Given the description of an element on the screen output the (x, y) to click on. 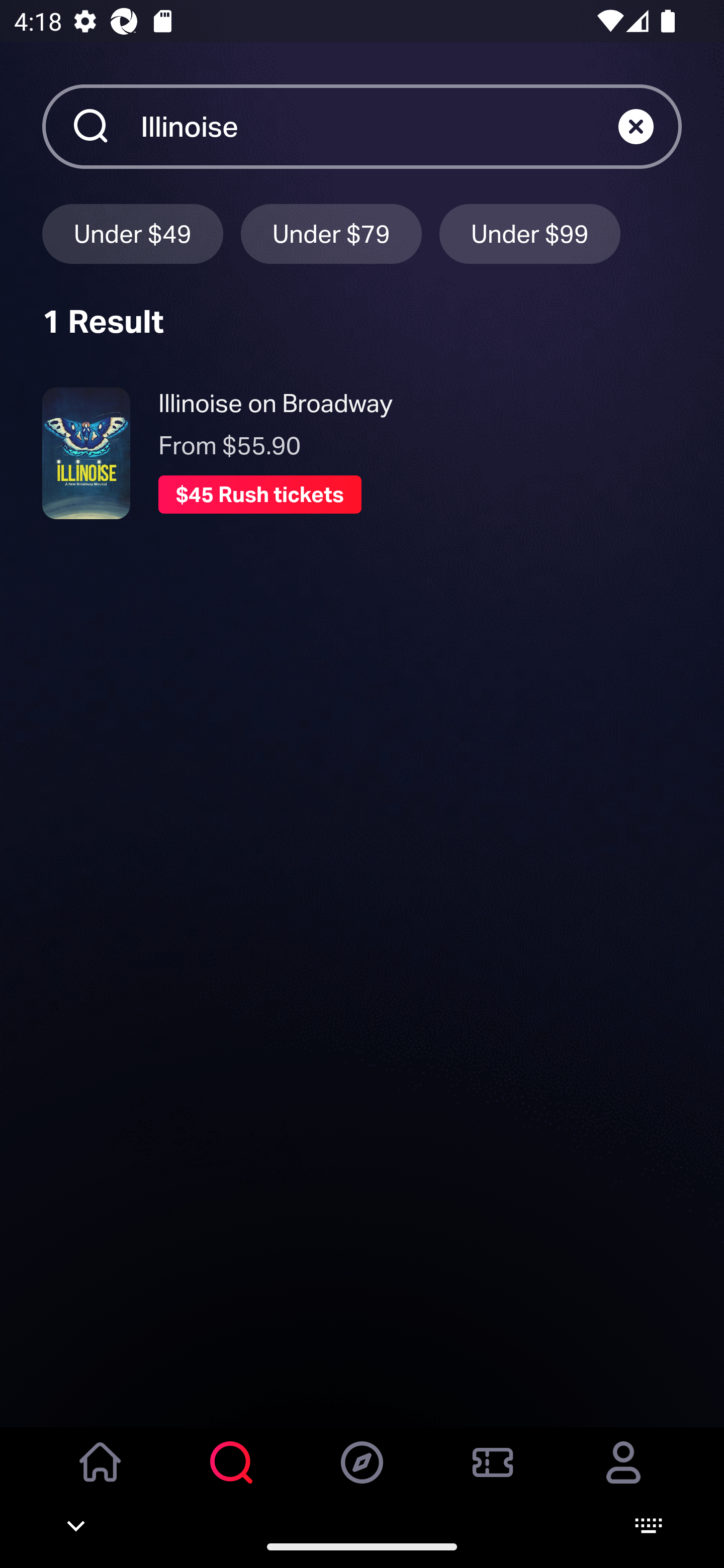
Illinoise (379, 126)
Under $49 (131, 233)
Under $79 (331, 233)
Under $99 (529, 233)
Home (100, 1475)
Discover (361, 1475)
Orders (492, 1475)
Account (623, 1475)
